Given the description of an element on the screen output the (x, y) to click on. 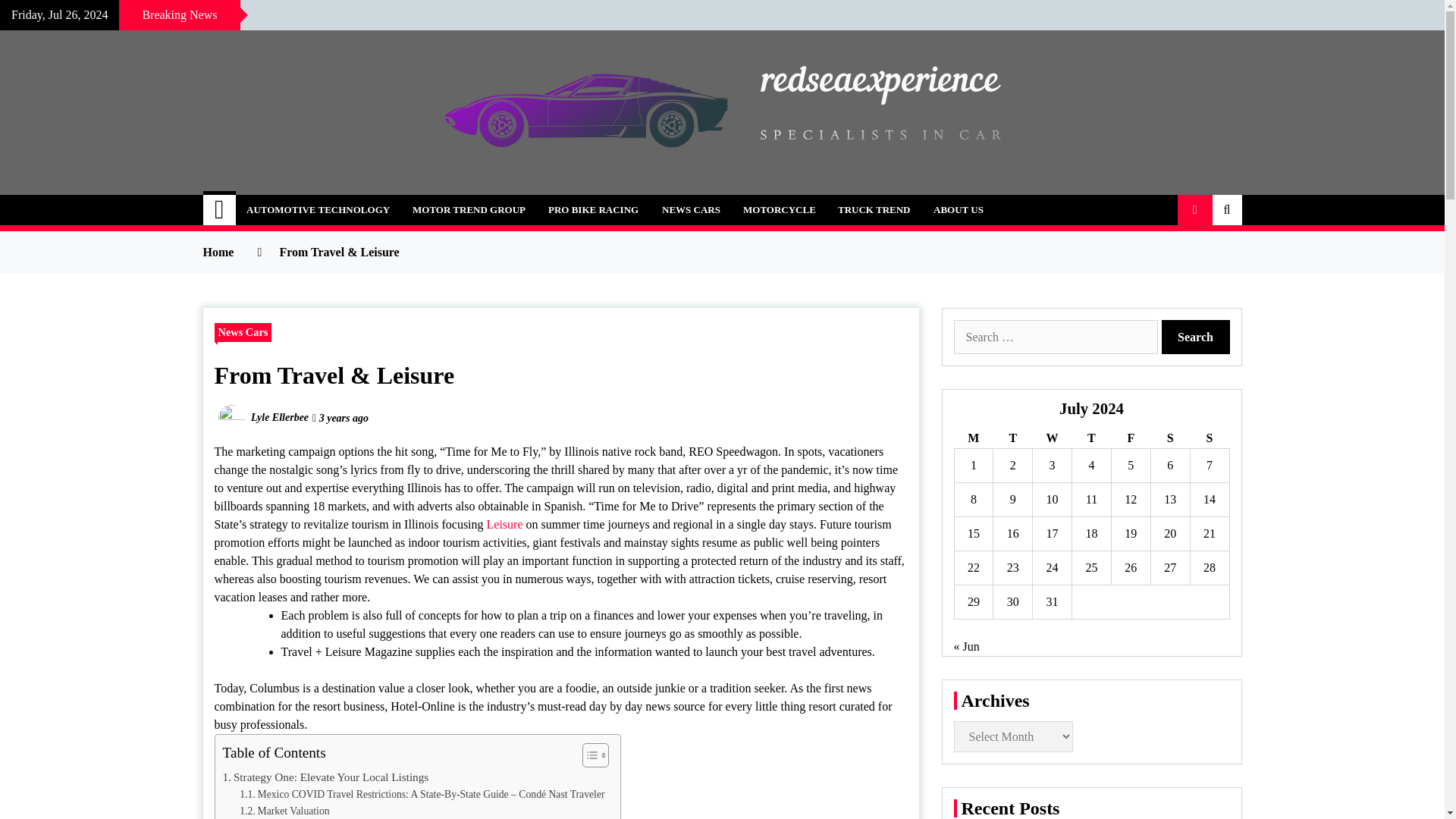
Tuesday (1012, 438)
Monday (972, 438)
TRUCK TREND (874, 209)
Search (1195, 336)
Strategy One: Elevate Your Local Listings (325, 777)
PRO BIKE RACING (593, 209)
MOTORCYCLE (779, 209)
Search (1195, 336)
Friday (1130, 438)
NEWS CARS (691, 209)
Thursday (1091, 438)
Saturday (1169, 438)
ABOUT US (957, 209)
Wednesday (1051, 438)
Sunday (1208, 438)
